Given the description of an element on the screen output the (x, y) to click on. 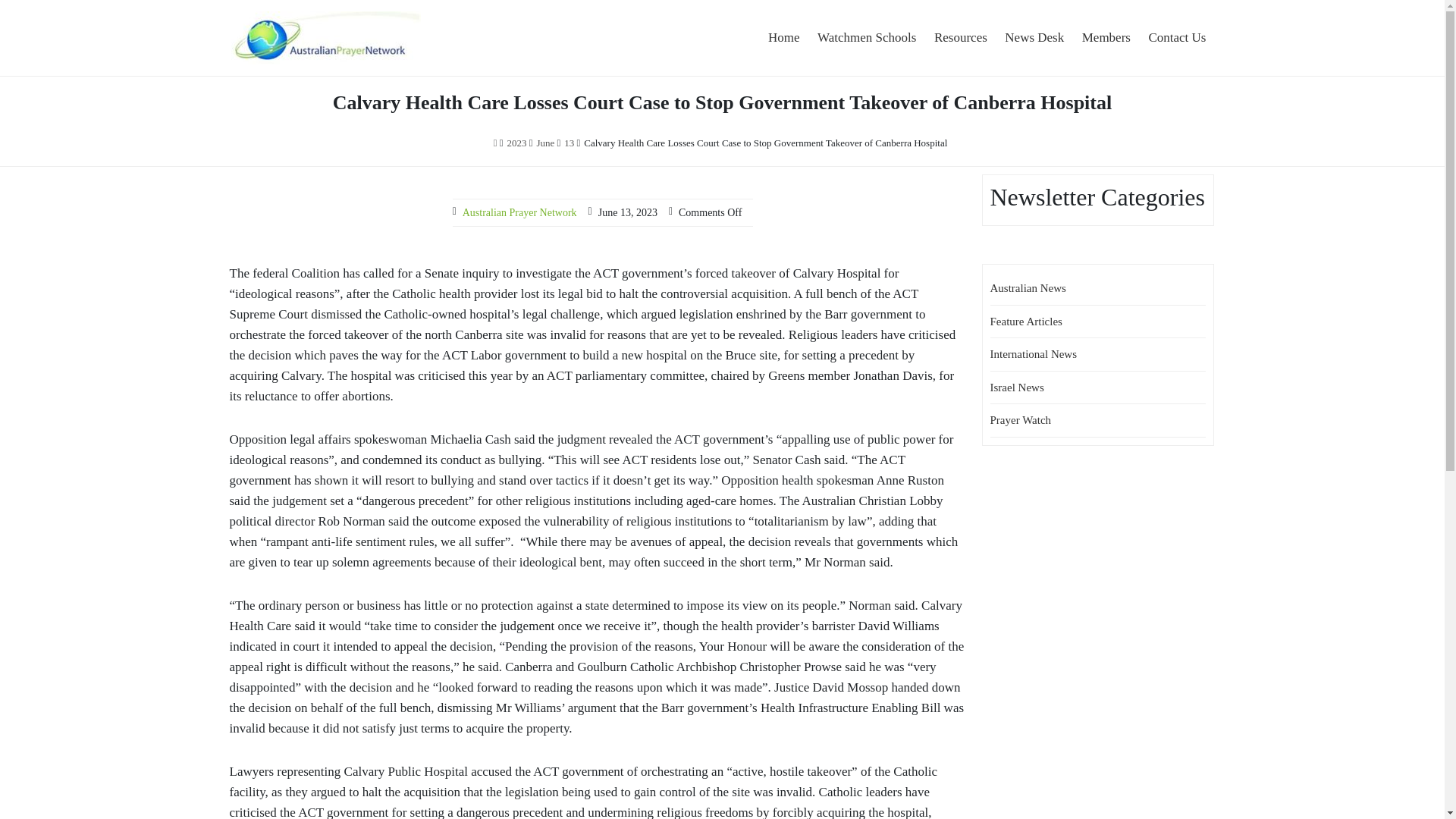
International News (1033, 354)
News Desk (1034, 37)
Australian News (1027, 287)
Feature Articles (1026, 321)
Israel News (1016, 387)
June (544, 142)
Contact Us (1176, 37)
Prayer Watch (1020, 419)
Australian Prayer Network (386, 83)
Watchmen Schools (866, 37)
